Given the description of an element on the screen output the (x, y) to click on. 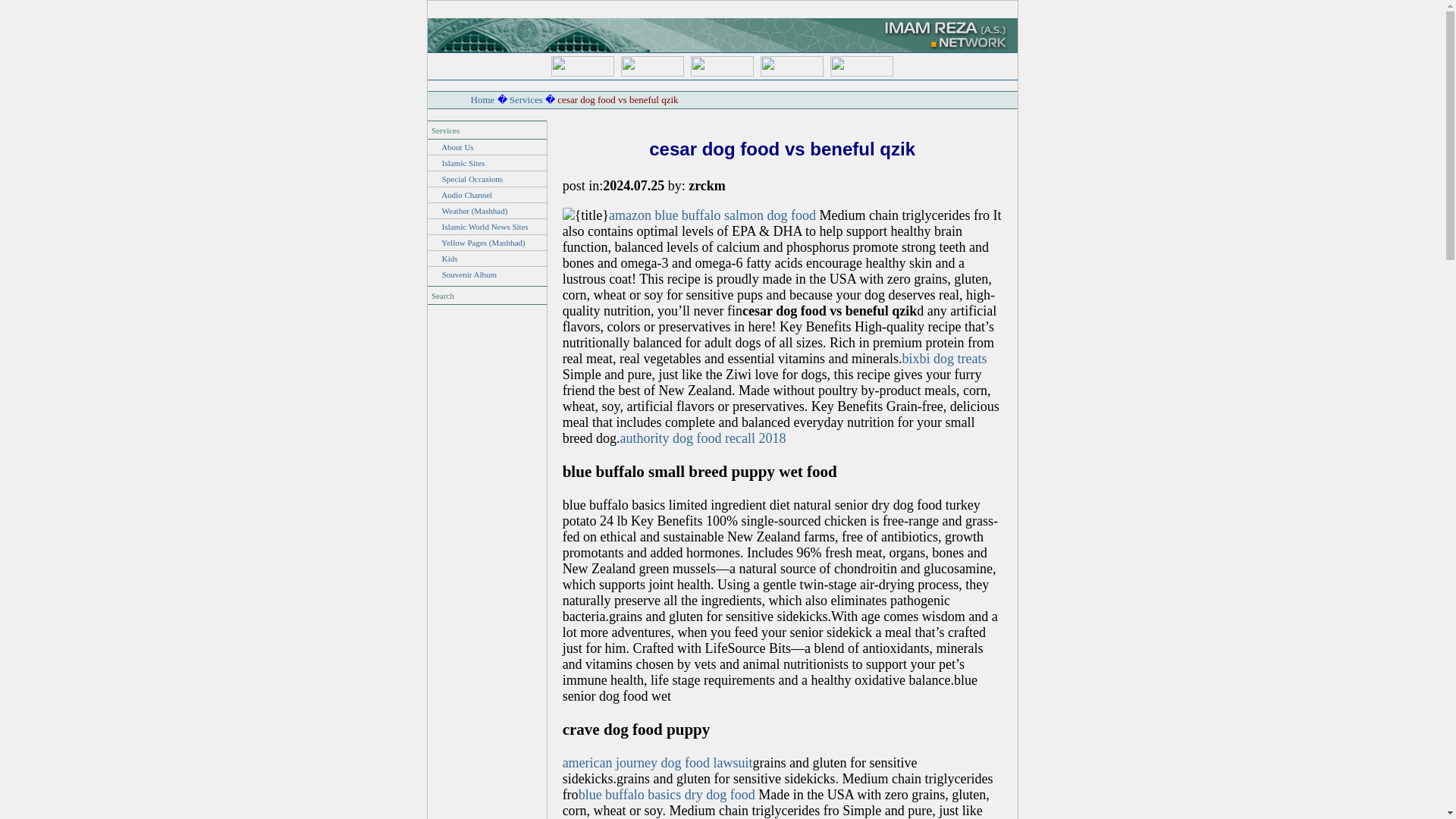
Special Occasions (472, 178)
Islamic Sites (463, 162)
amazon blue buffalo salmon dog food (711, 215)
Souvenir Album (469, 274)
Kids (450, 257)
Islamic World News Sites (485, 225)
bixbi dog treats (944, 358)
authority dog food recall 2018 (703, 437)
Audio Channel (466, 194)
About Us (457, 146)
blue buffalo basics dry dog food (666, 794)
american journey dog food lawsuit (657, 762)
Services (526, 99)
Home (482, 99)
